Given the description of an element on the screen output the (x, y) to click on. 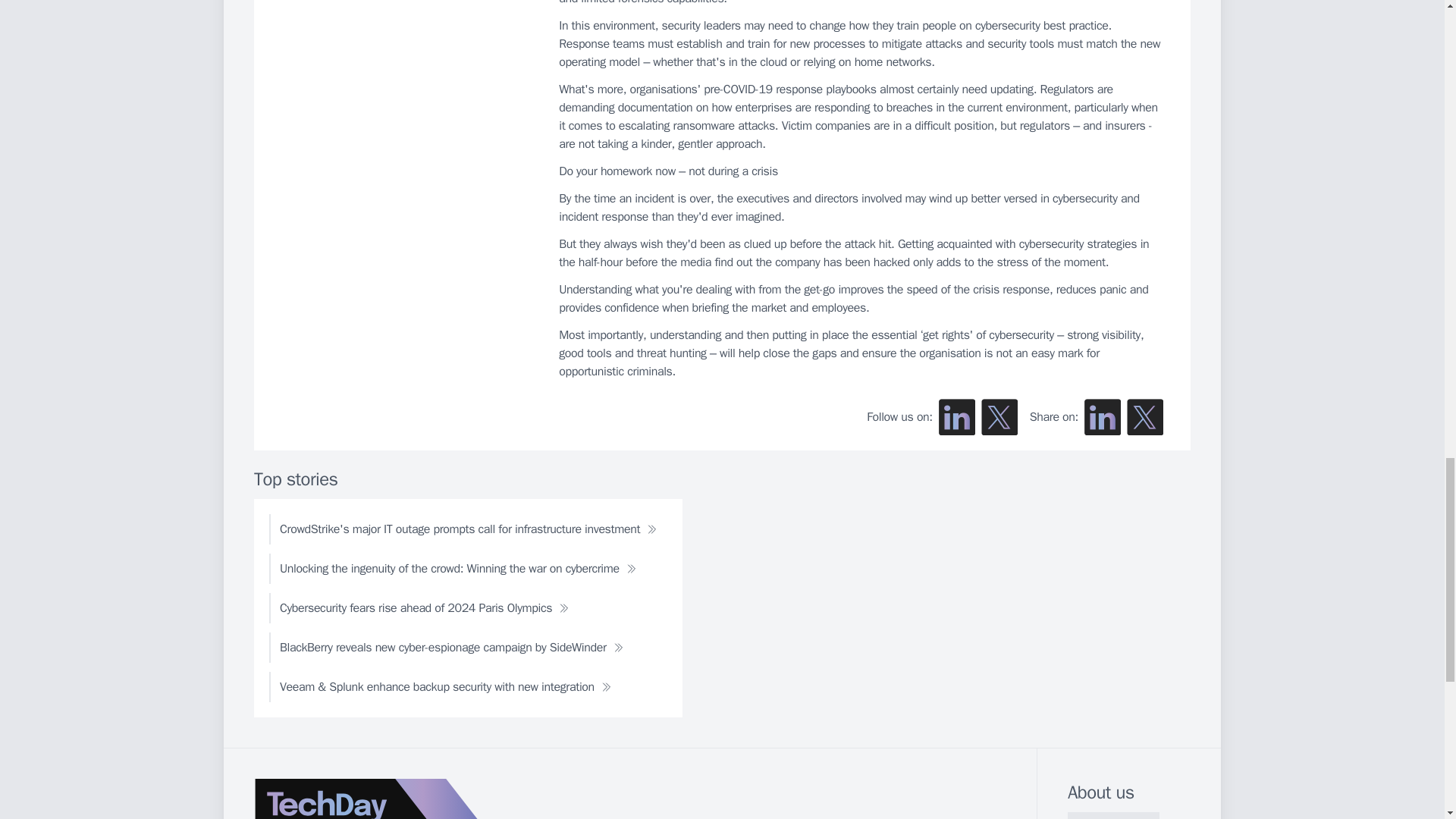
Cybersecurity fears rise ahead of 2024 Paris Olympics (424, 607)
